Given the description of an element on the screen output the (x, y) to click on. 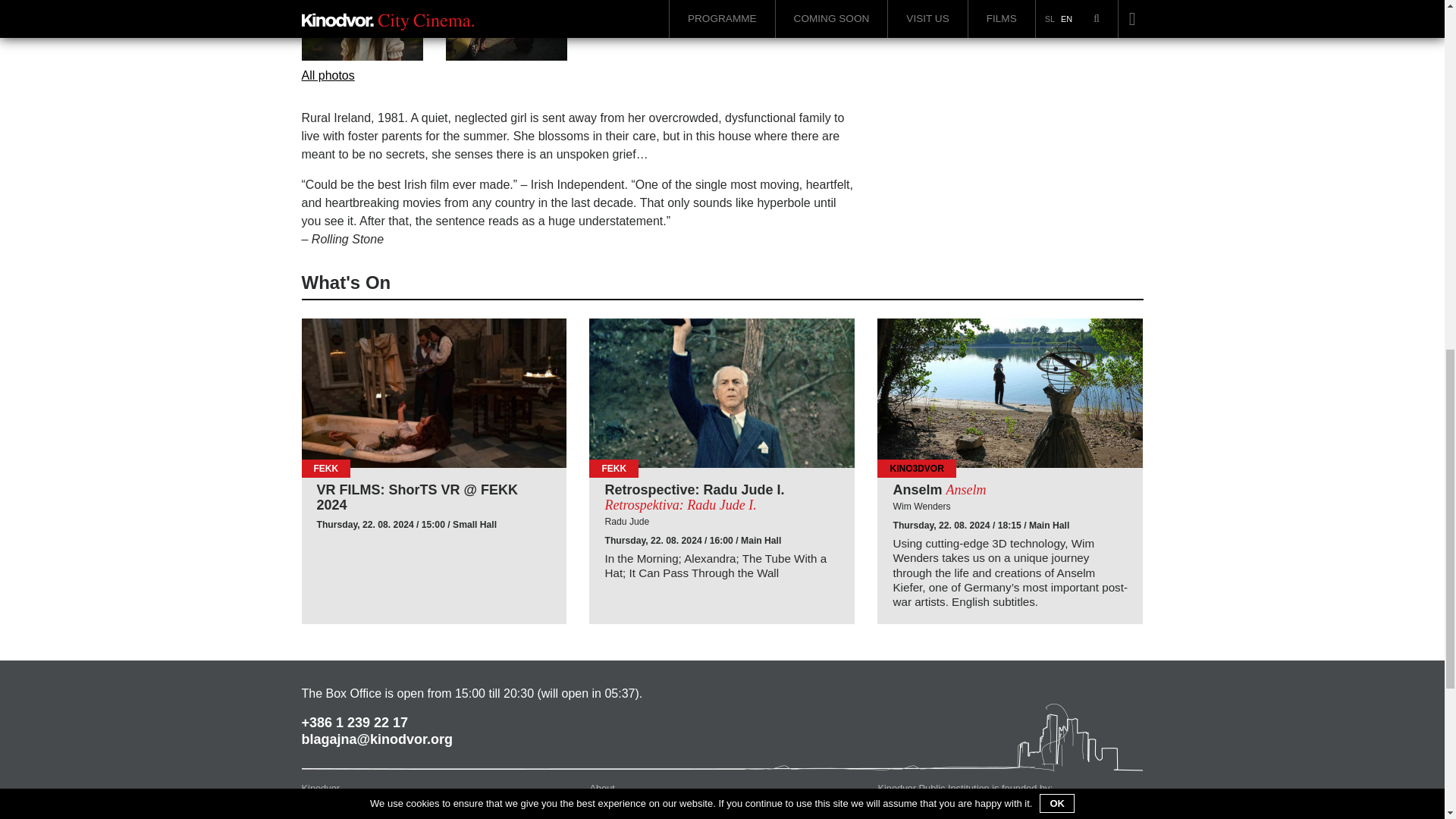
Retrospective: Radu Jude I. (722, 498)
Retrospective: Radu Jude I. (721, 392)
Anselm (1009, 490)
Anselm (1009, 392)
